Given the description of an element on the screen output the (x, y) to click on. 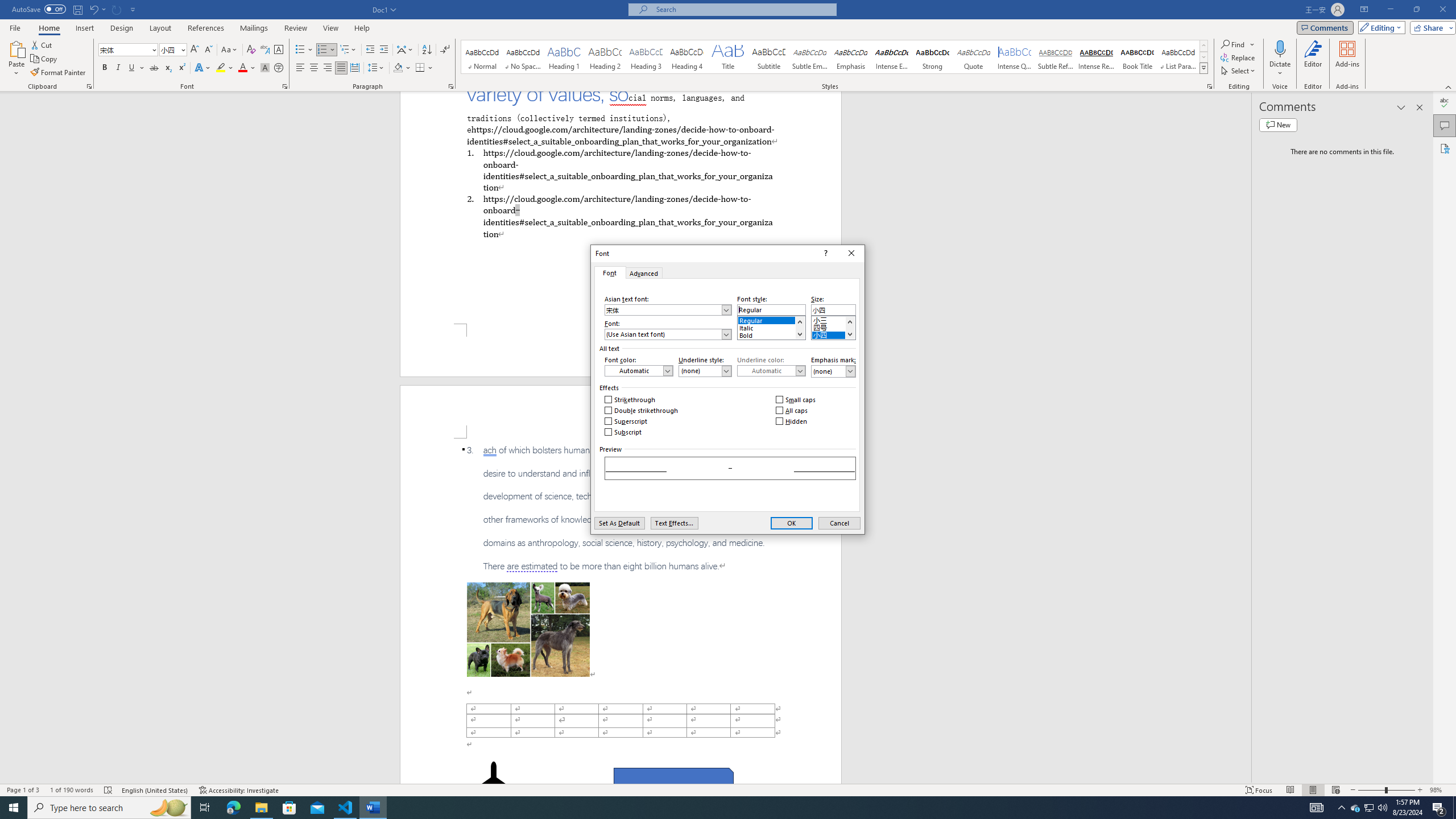
Format Painter (58, 72)
Read Mode (1290, 790)
Line and Paragraph Spacing (376, 67)
Class: NetUIImage (1204, 68)
All caps (792, 410)
Home (48, 28)
Dictate (1280, 58)
Close pane (1419, 107)
Comments (1444, 125)
Microsoft Store (289, 807)
Strong (932, 56)
Font (128, 49)
Microsoft Edge (233, 807)
